Given the description of an element on the screen output the (x, y) to click on. 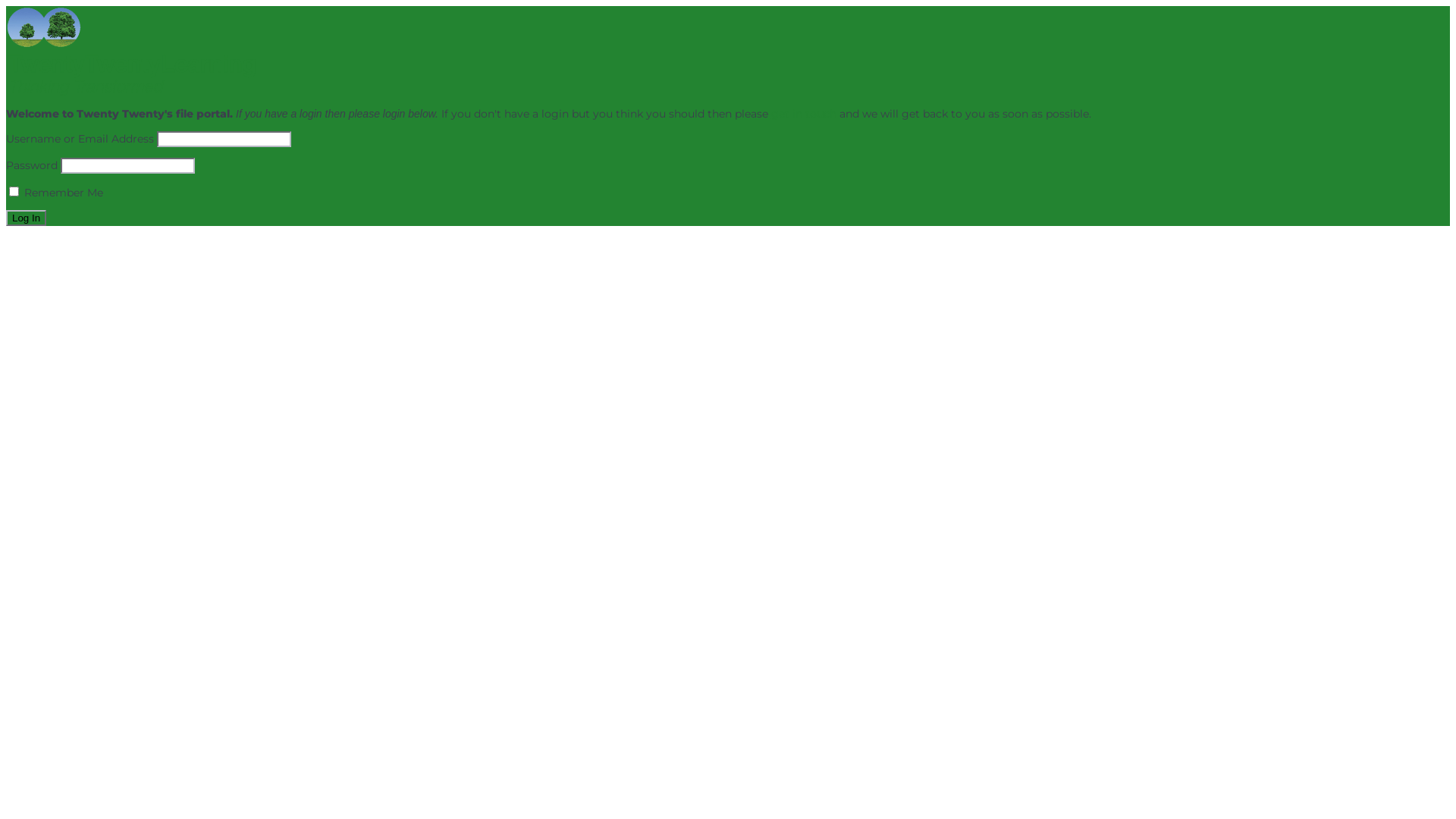
get in touch Element type: text (803, 113)
Log In Element type: text (26, 217)
